Given the description of an element on the screen output the (x, y) to click on. 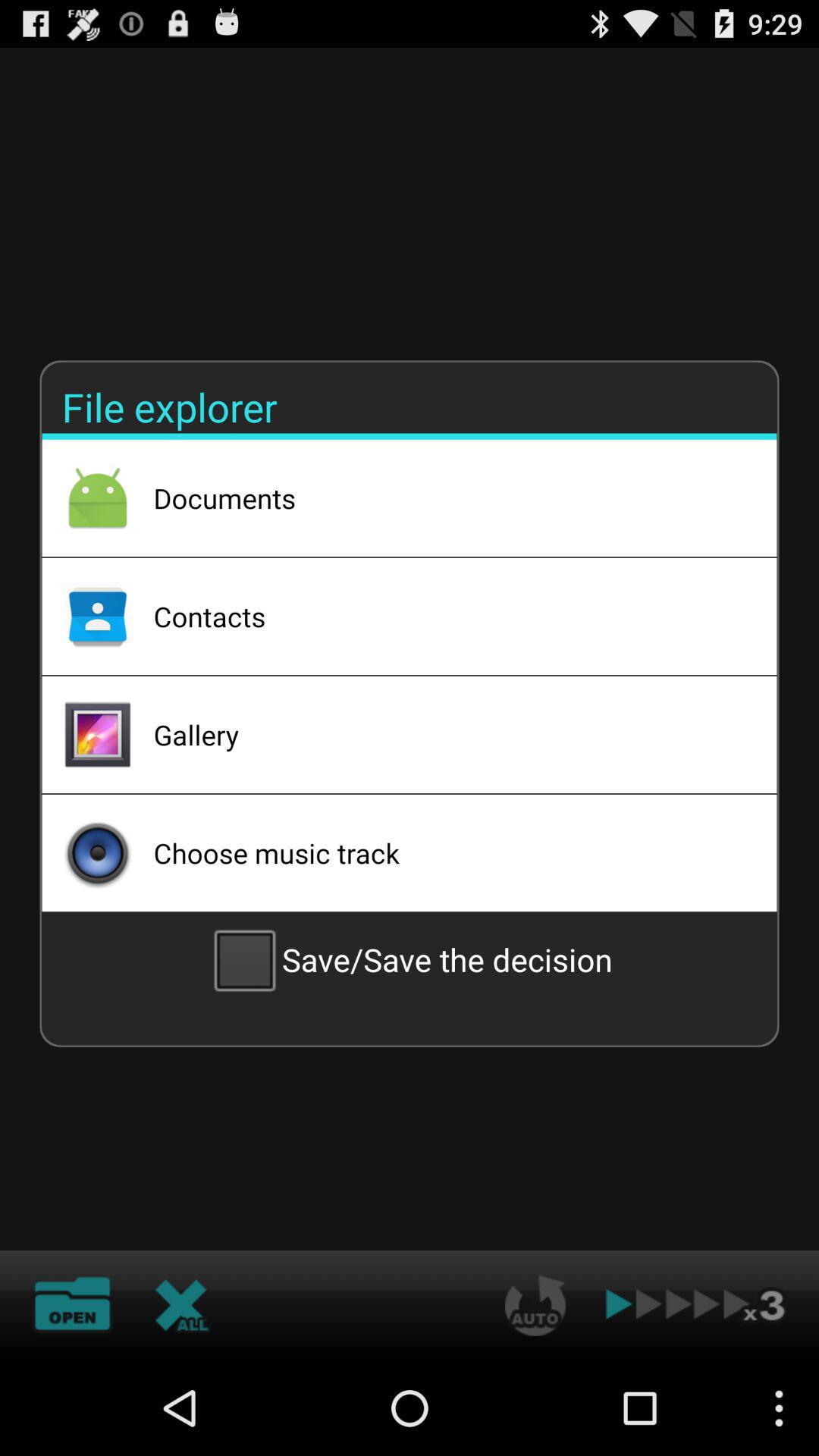
scroll to gallery (445, 734)
